Given the description of an element on the screen output the (x, y) to click on. 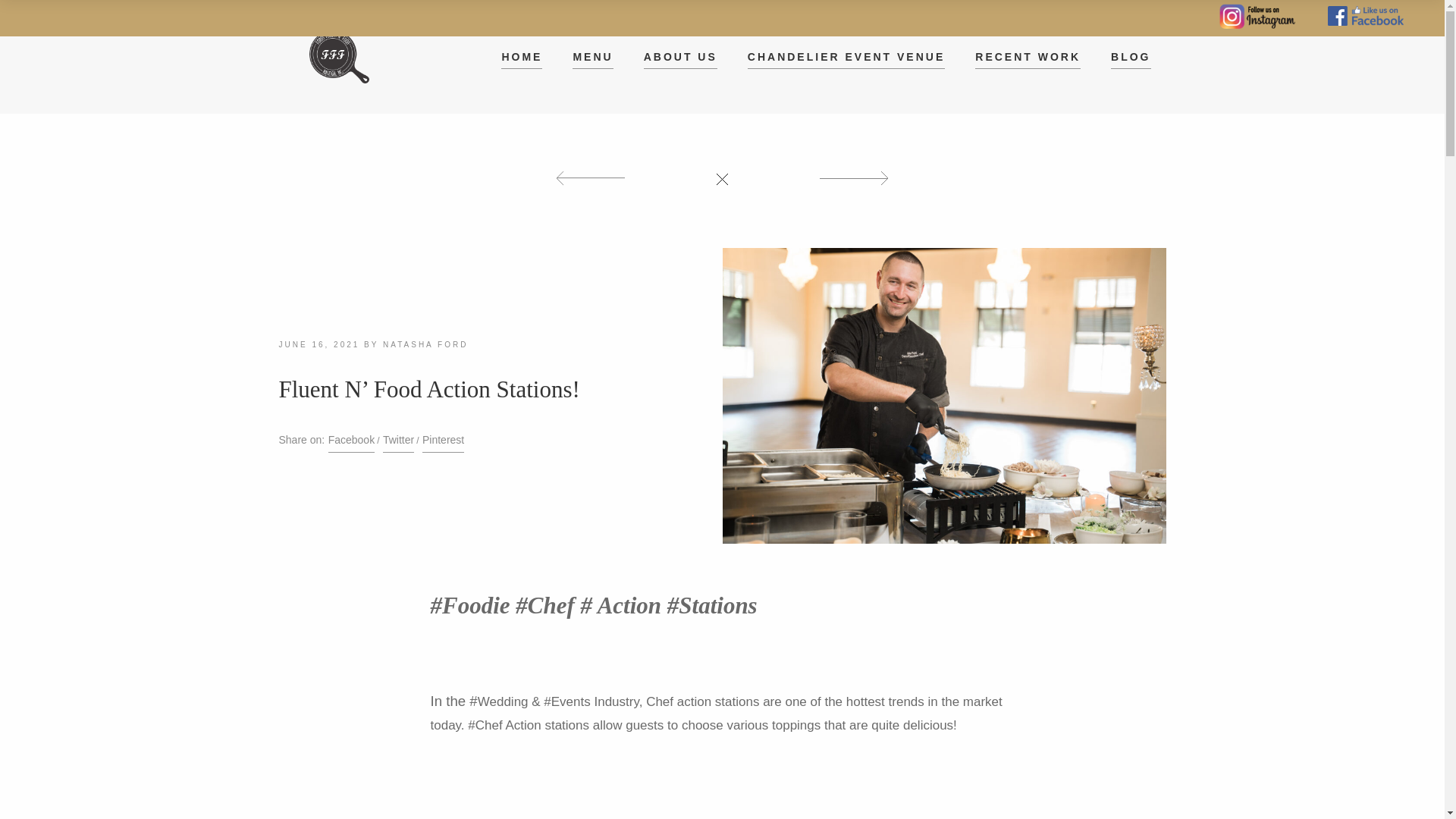
JUNE 16, 2021 (319, 344)
RECENT WORK (1027, 56)
Facebook (351, 440)
CHANDELIER EVENT VENUE (846, 56)
BLOG (1130, 56)
MENU (592, 56)
Twitter (397, 440)
NATASHA FORD (424, 344)
Pinterest (443, 440)
HOME (520, 56)
ABOUT US (680, 56)
